Given the description of an element on the screen output the (x, y) to click on. 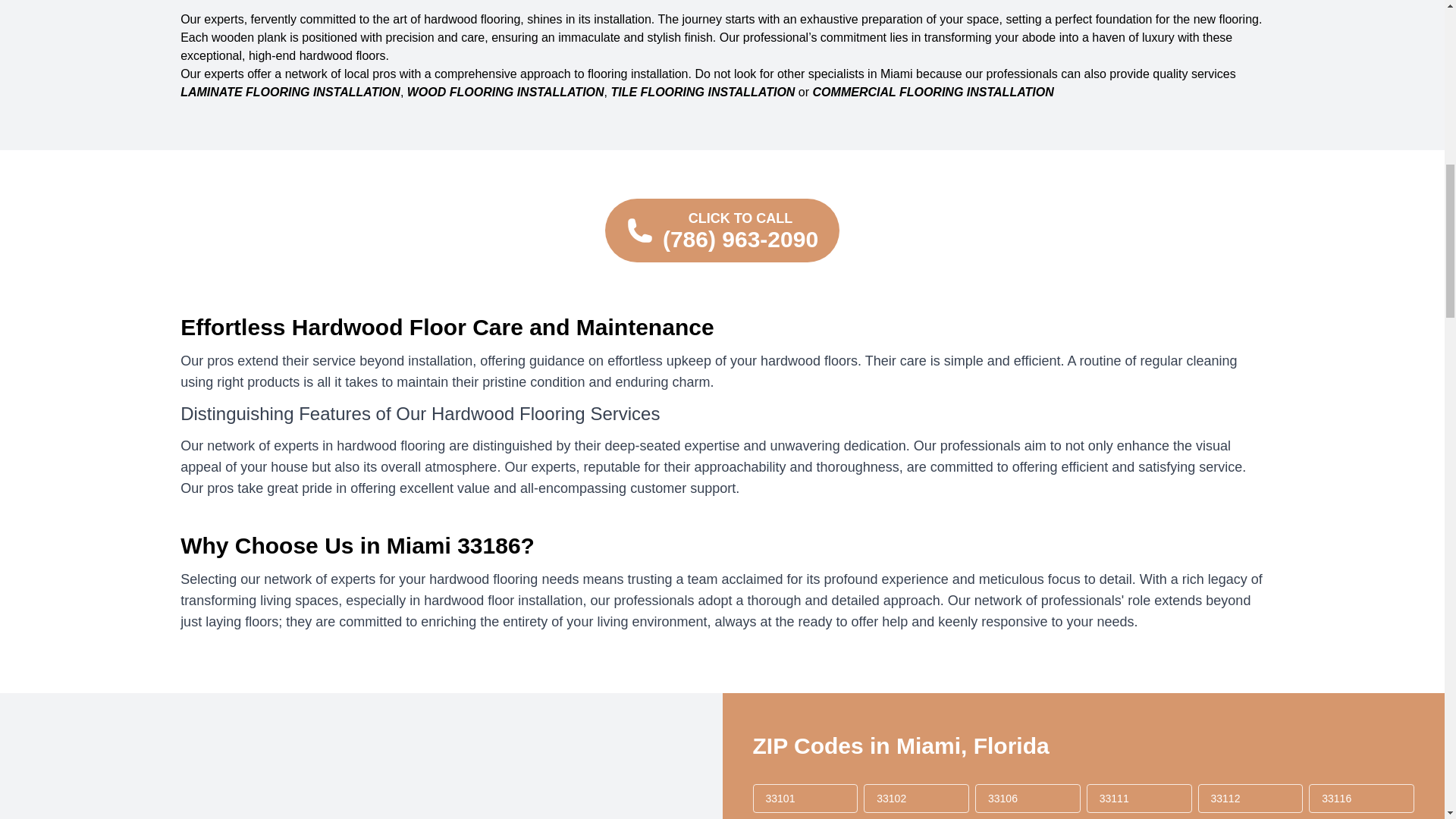
LAMINATE FLOORING INSTALLATION (290, 91)
COMMERCIAL FLOORING INSTALLATION (933, 91)
33116 (1360, 798)
33101 (804, 798)
33112 (1250, 798)
33106 (1027, 798)
TILE FLOORING INSTALLATION (702, 91)
33111 (1139, 798)
WOOD FLOORING INSTALLATION (505, 91)
33102 (916, 798)
Click to call us (722, 230)
